Given the description of an element on the screen output the (x, y) to click on. 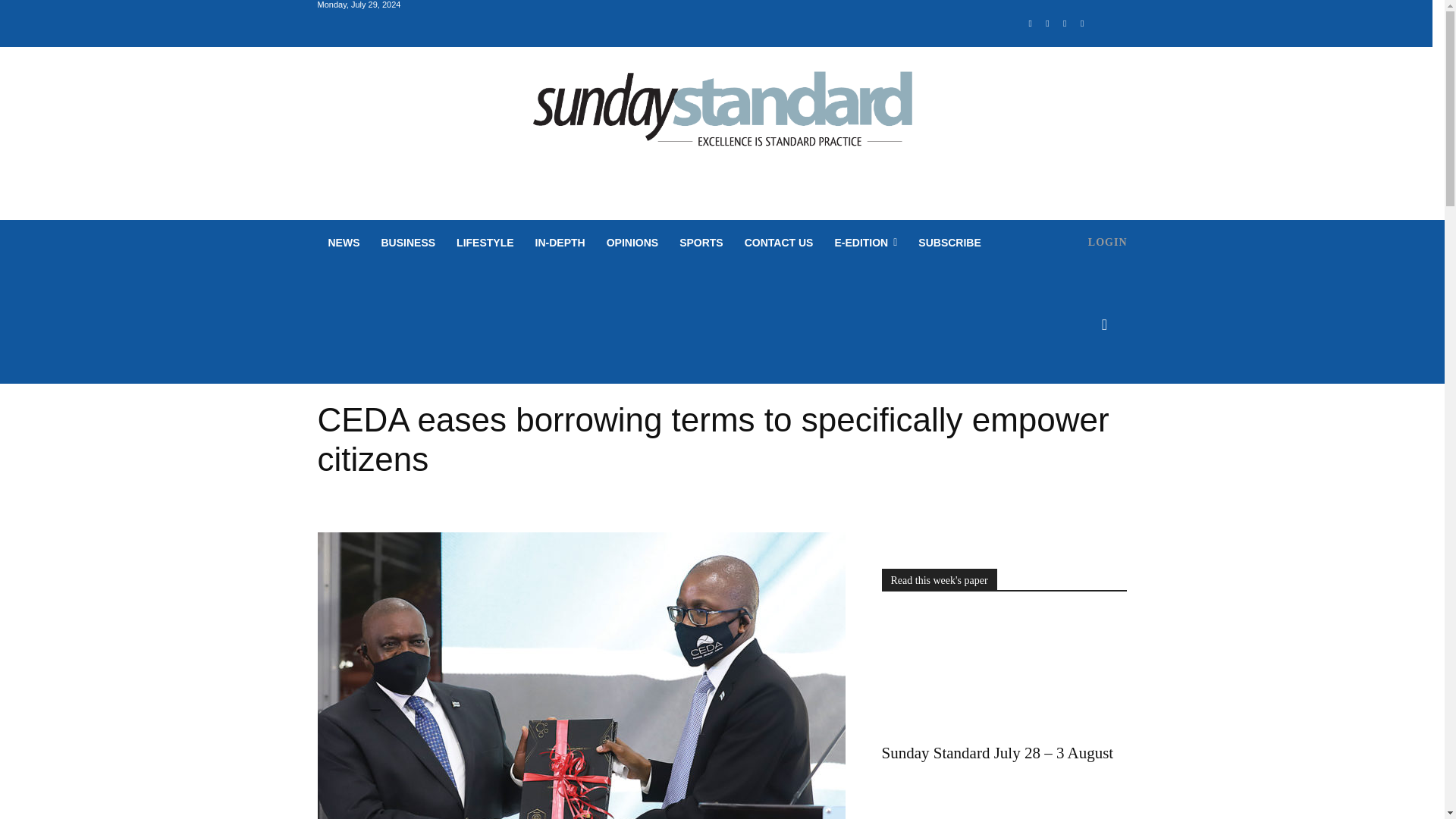
OPINIONS (631, 242)
Sunday Standard (721, 114)
LIFESTYLE (484, 242)
Instagram (1048, 23)
Twitter (1065, 23)
Sunday Standard (721, 114)
BUSINESS (407, 242)
CONTACT US (778, 242)
SPORTS (700, 242)
E-EDITION (865, 242)
IN-DEPTH (559, 242)
Facebook (1030, 23)
Youtube (1082, 23)
NEWS (343, 242)
